Given the description of an element on the screen output the (x, y) to click on. 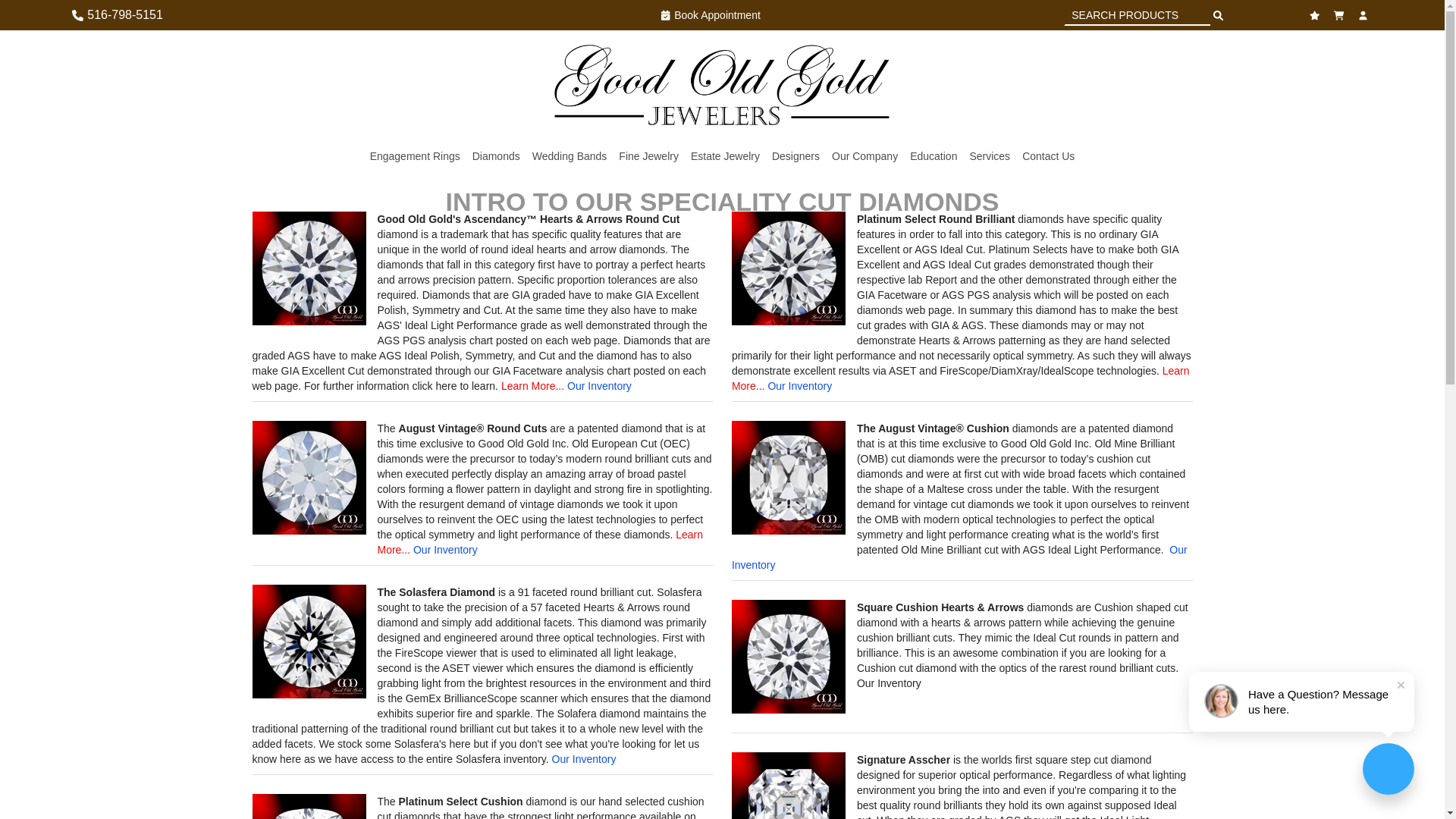
Book Appointment (711, 15)
My Account (1364, 14)
calendar icon (711, 15)
Good Old Gold Logo (721, 86)
Diamonds (495, 156)
Shopping Cart (1340, 14)
Good Old Gold Logo (721, 84)
Engagement Rings (414, 156)
Call us 516-798-5151 (117, 14)
Engagement Rings (414, 156)
Wishlist (1315, 14)
516-798-5151 (117, 14)
